Given the description of an element on the screen output the (x, y) to click on. 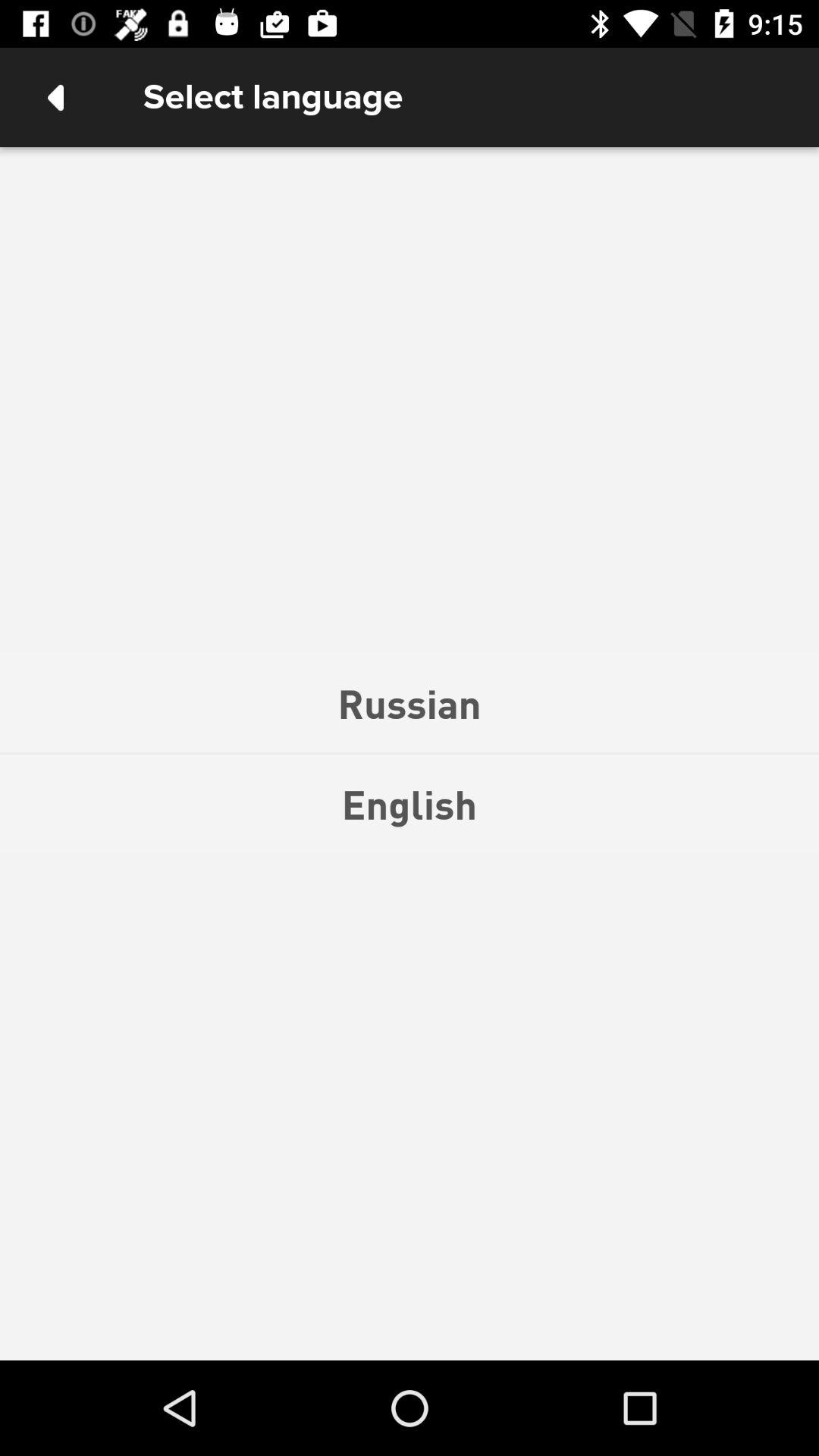
turn off item above the russian item (55, 97)
